Given the description of an element on the screen output the (x, y) to click on. 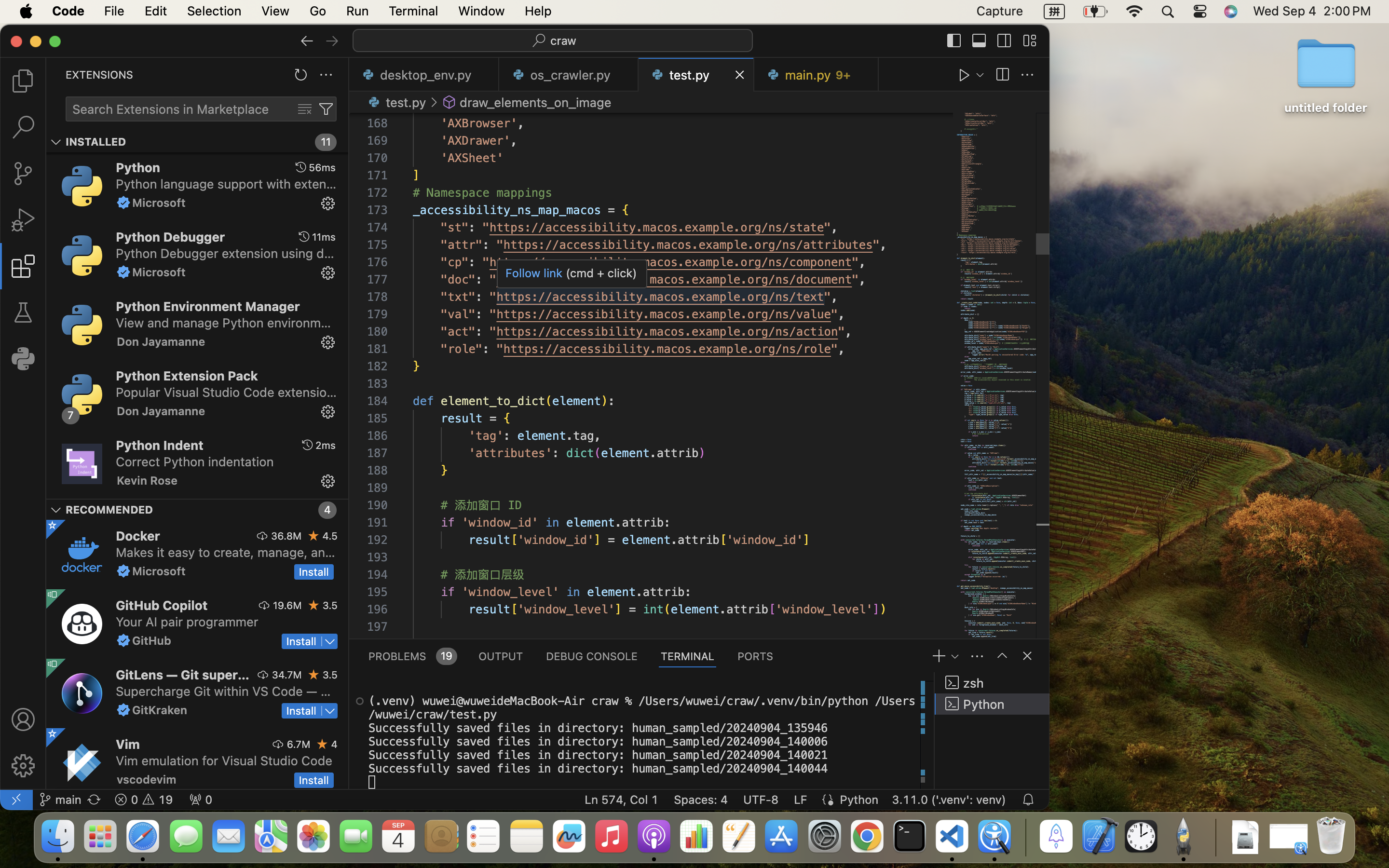
Microsoft Element type: AXStaticText (159, 202)
 Element type: AXCheckBox (953, 40)
4.5 Element type: AXStaticText (329, 535)
GitHub Copilot Element type: AXStaticText (161, 604)
0 Element type: AXRadioButton (23, 358)
